Given the description of an element on the screen output the (x, y) to click on. 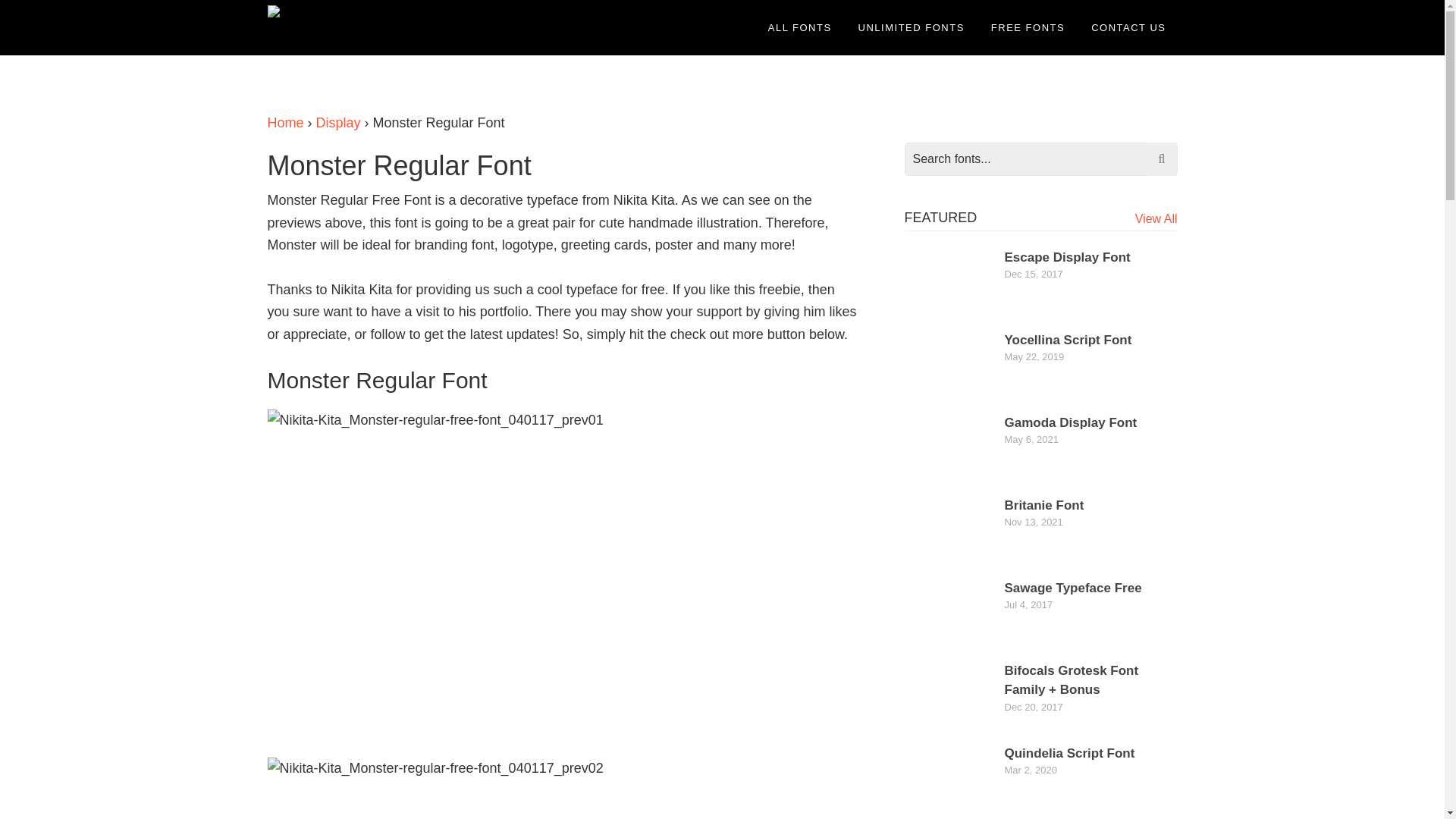
Escape Display Font (1066, 257)
Home (284, 122)
CONTACT US (1128, 27)
Yocellina Script Font (1067, 339)
ALL FONTS (800, 27)
Display (338, 122)
View All (1156, 218)
UNLIMITED FONTS (911, 27)
FREE FONTS (1027, 27)
